Given the description of an element on the screen output the (x, y) to click on. 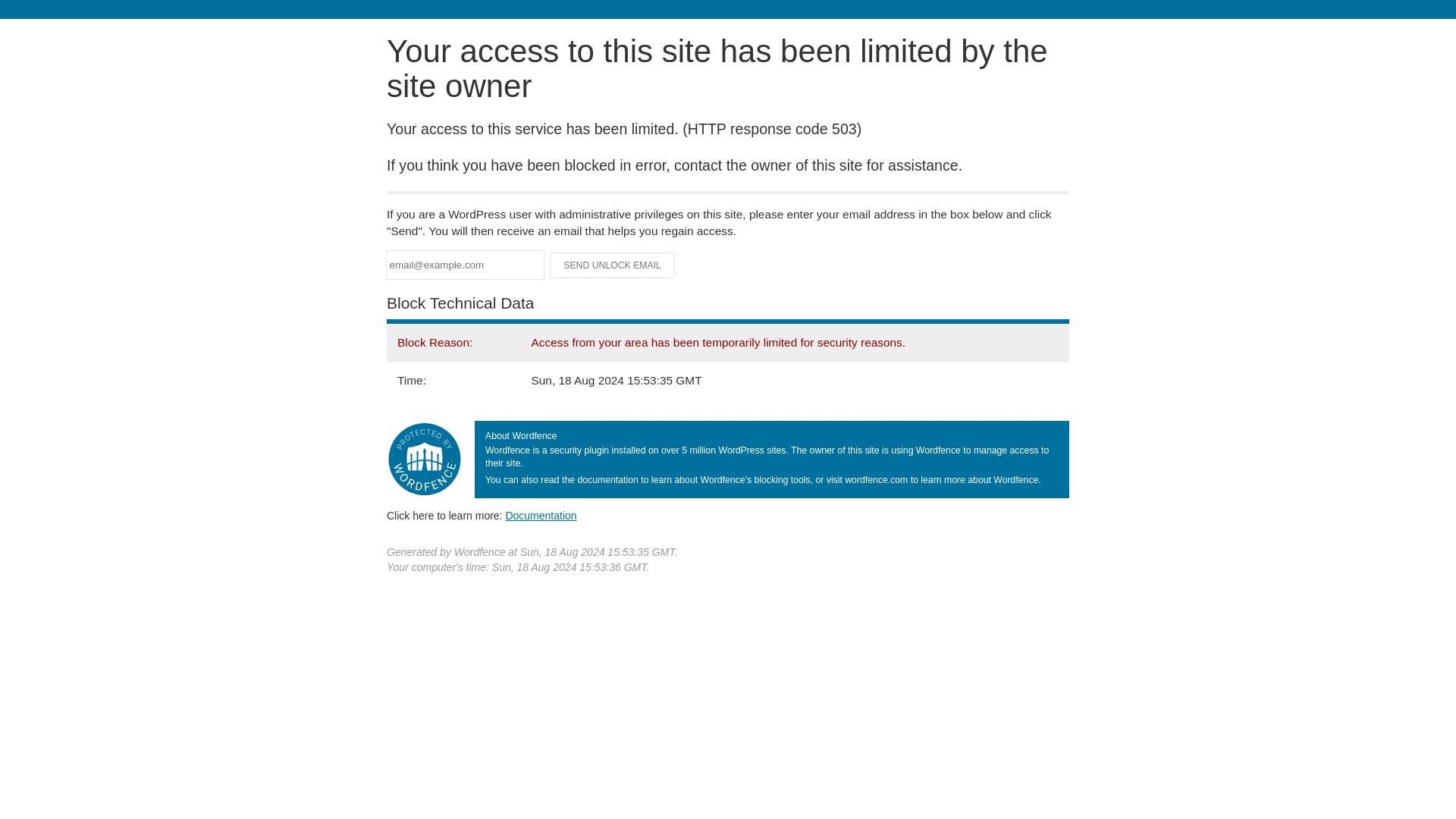
Documentation (540, 515)
Send Unlock Email (612, 265)
Send Unlock Email (612, 265)
